Given the description of an element on the screen output the (x, y) to click on. 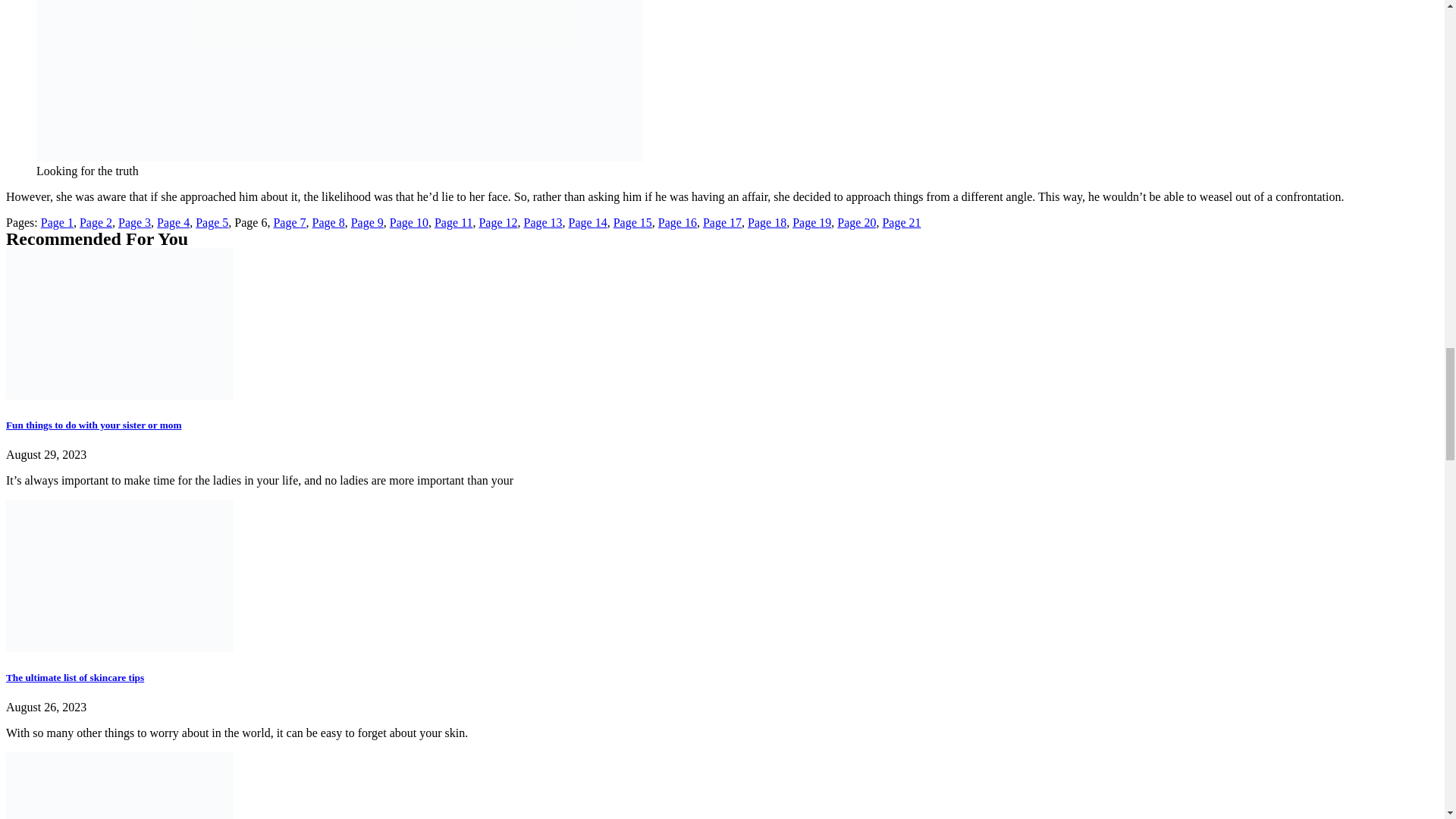
Page 12 (497, 222)
Page 3 (134, 222)
Page 14 (588, 222)
Page 5 (211, 222)
Page 9 (367, 222)
Page 7 (289, 222)
Page 21 (901, 222)
Page 20 (856, 222)
Page 8 (329, 222)
Fun things to do with your sister or mom (92, 424)
